Given the description of an element on the screen output the (x, y) to click on. 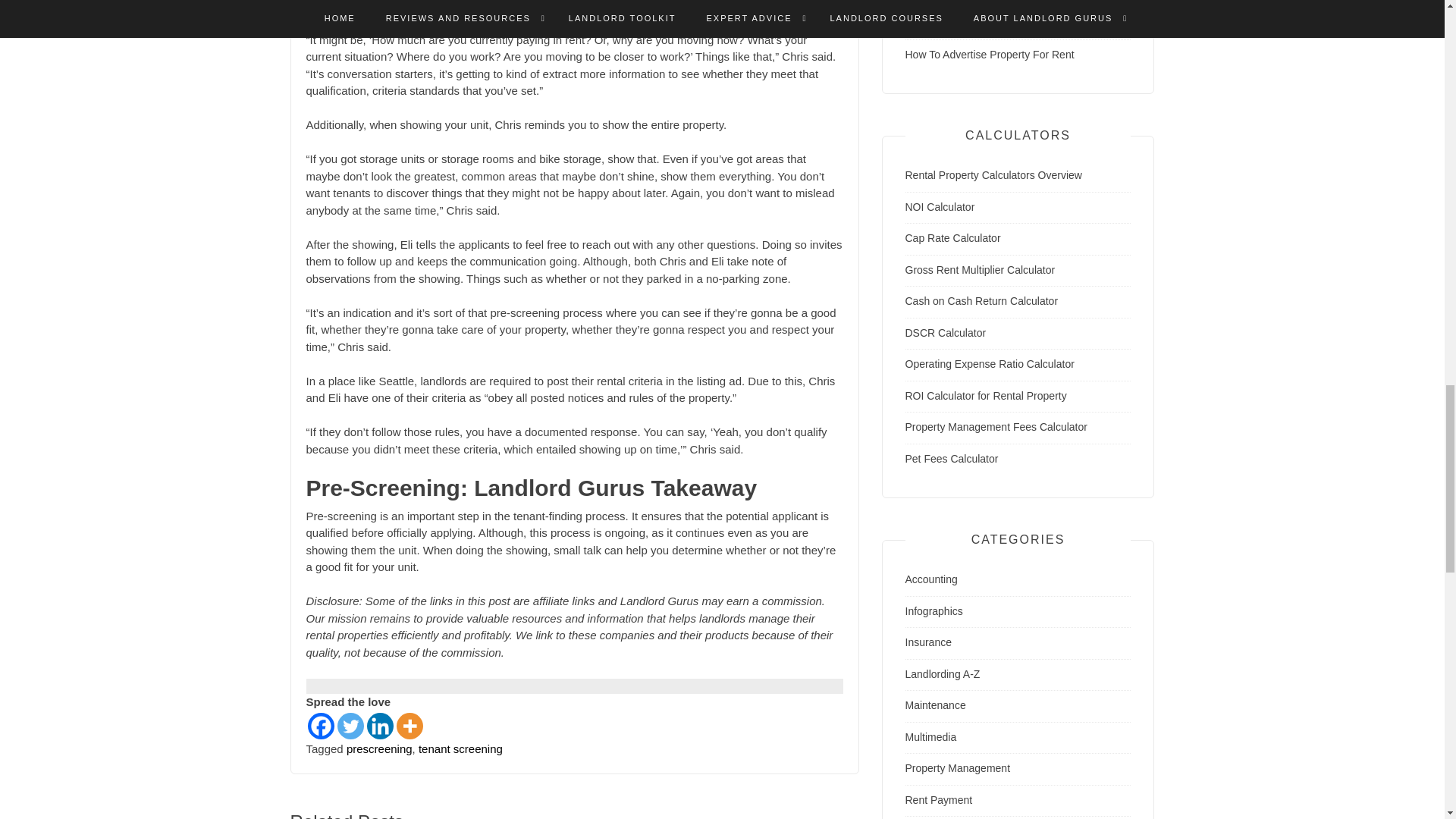
Facebook (320, 725)
More (409, 725)
Twitter (349, 725)
Linkedin (379, 725)
